Given the description of an element on the screen output the (x, y) to click on. 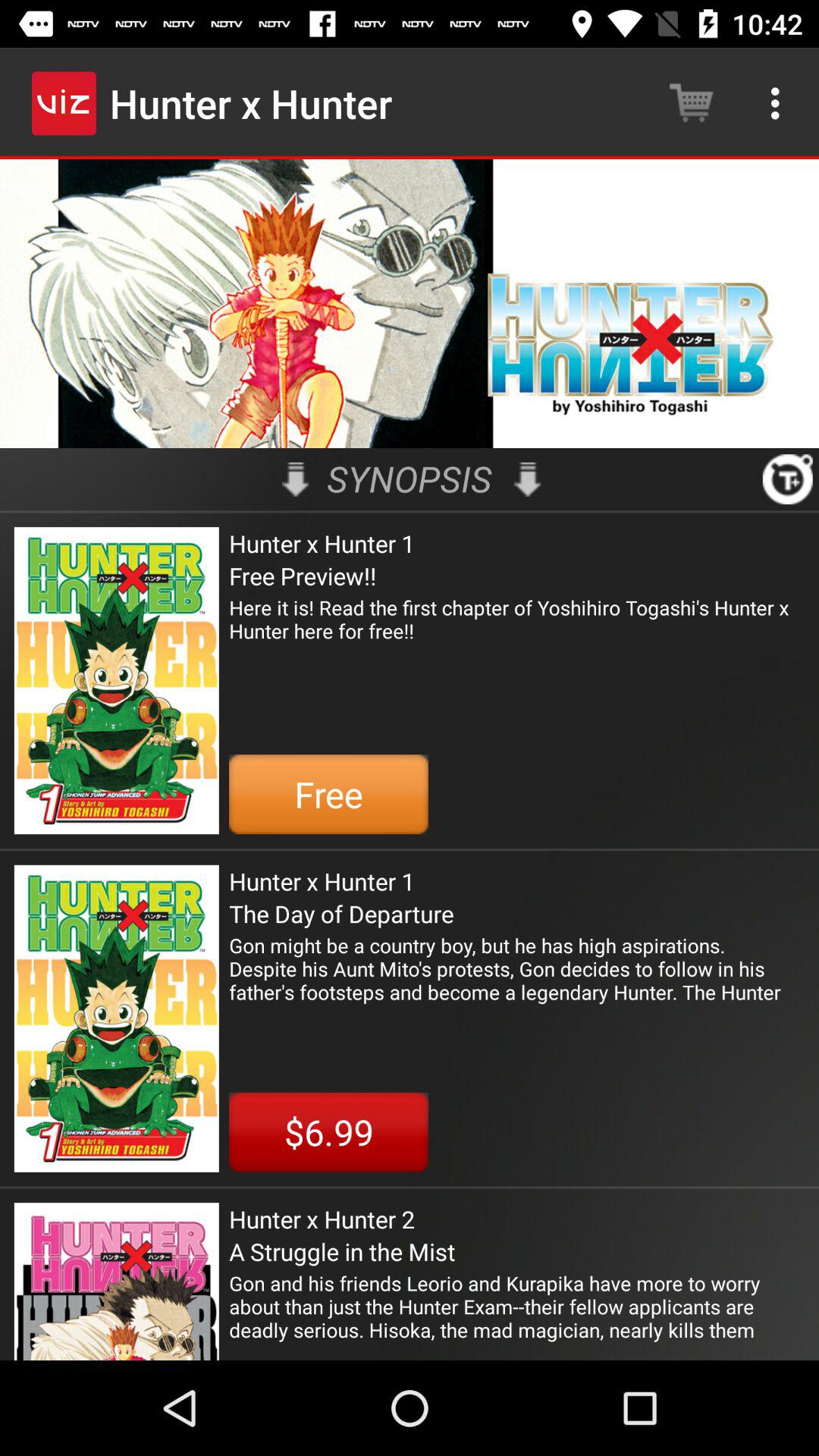
turn on item above the hunter x hunter (787, 479)
